Given the description of an element on the screen output the (x, y) to click on. 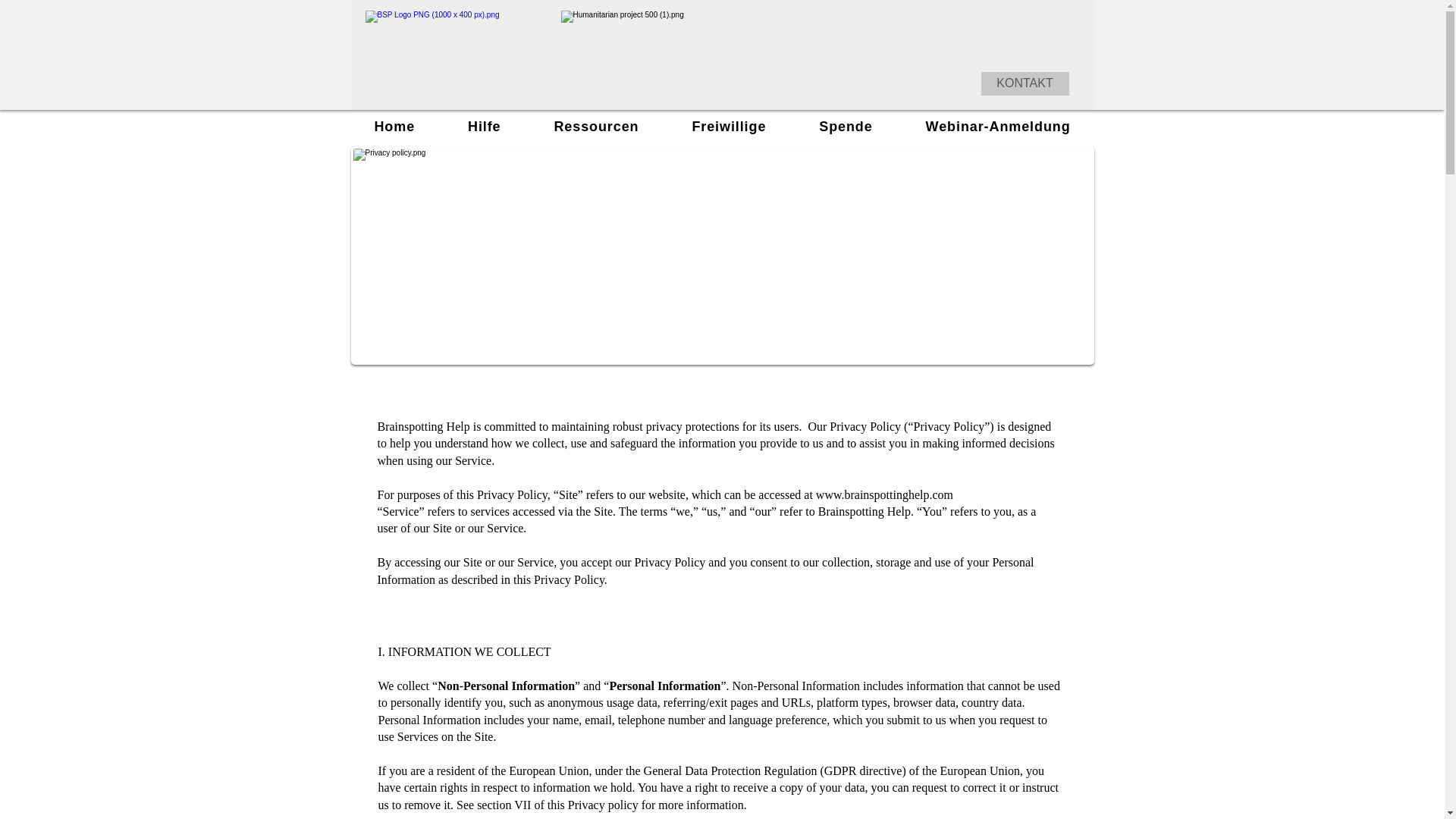
KONTAKT (1024, 83)
Home (394, 126)
Webinar-Anmeldung (998, 126)
Spende (844, 126)
Freiwillige (728, 126)
www.brainspottinghelp.com (884, 494)
